Given the description of an element on the screen output the (x, y) to click on. 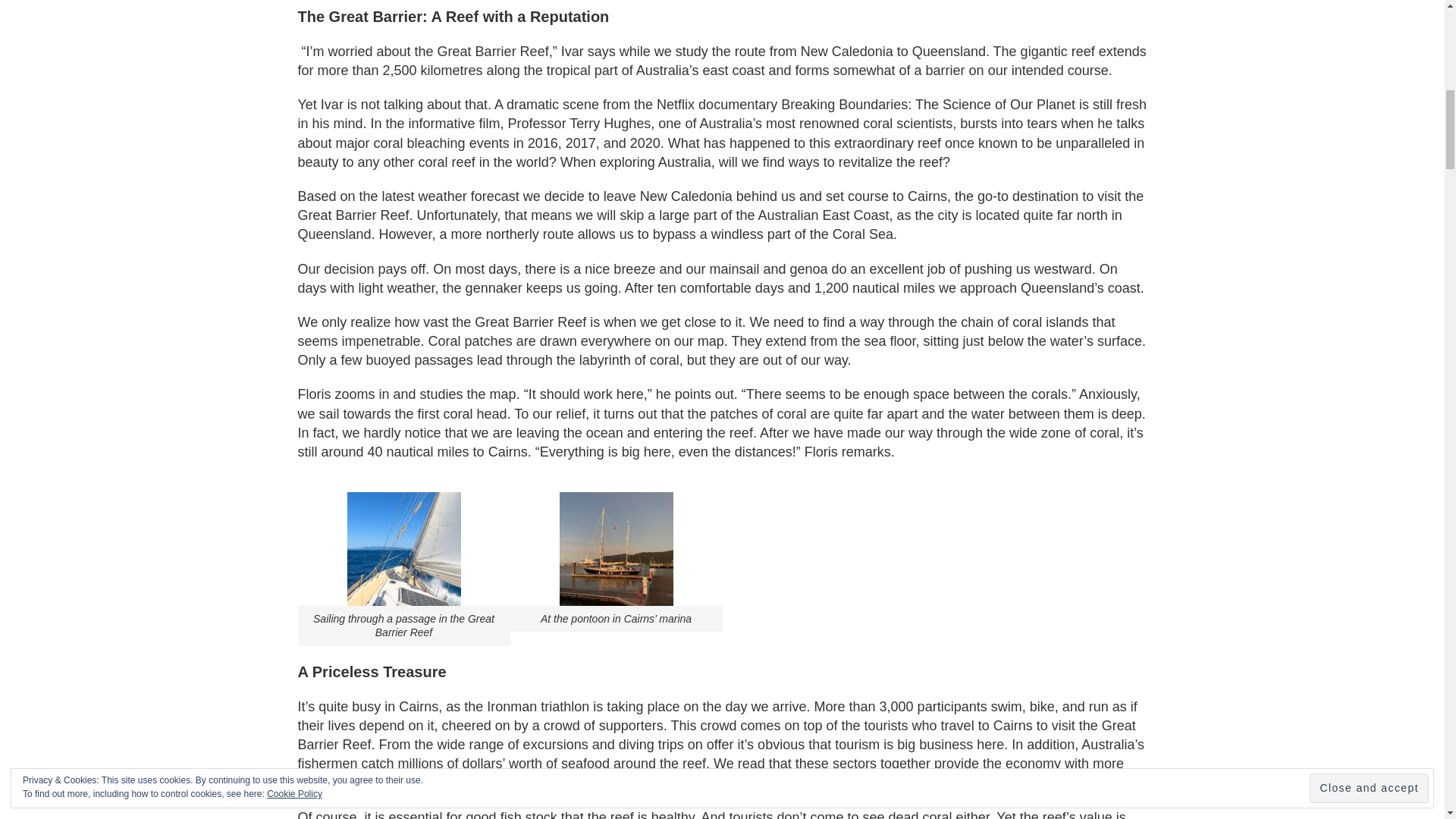
Cairns (418, 706)
New Caledonia (686, 196)
more than AUD 6 billion (710, 772)
bursts into tears (1008, 123)
Breaking Boundaries: The Science of Our Planet (927, 104)
